Given the description of an element on the screen output the (x, y) to click on. 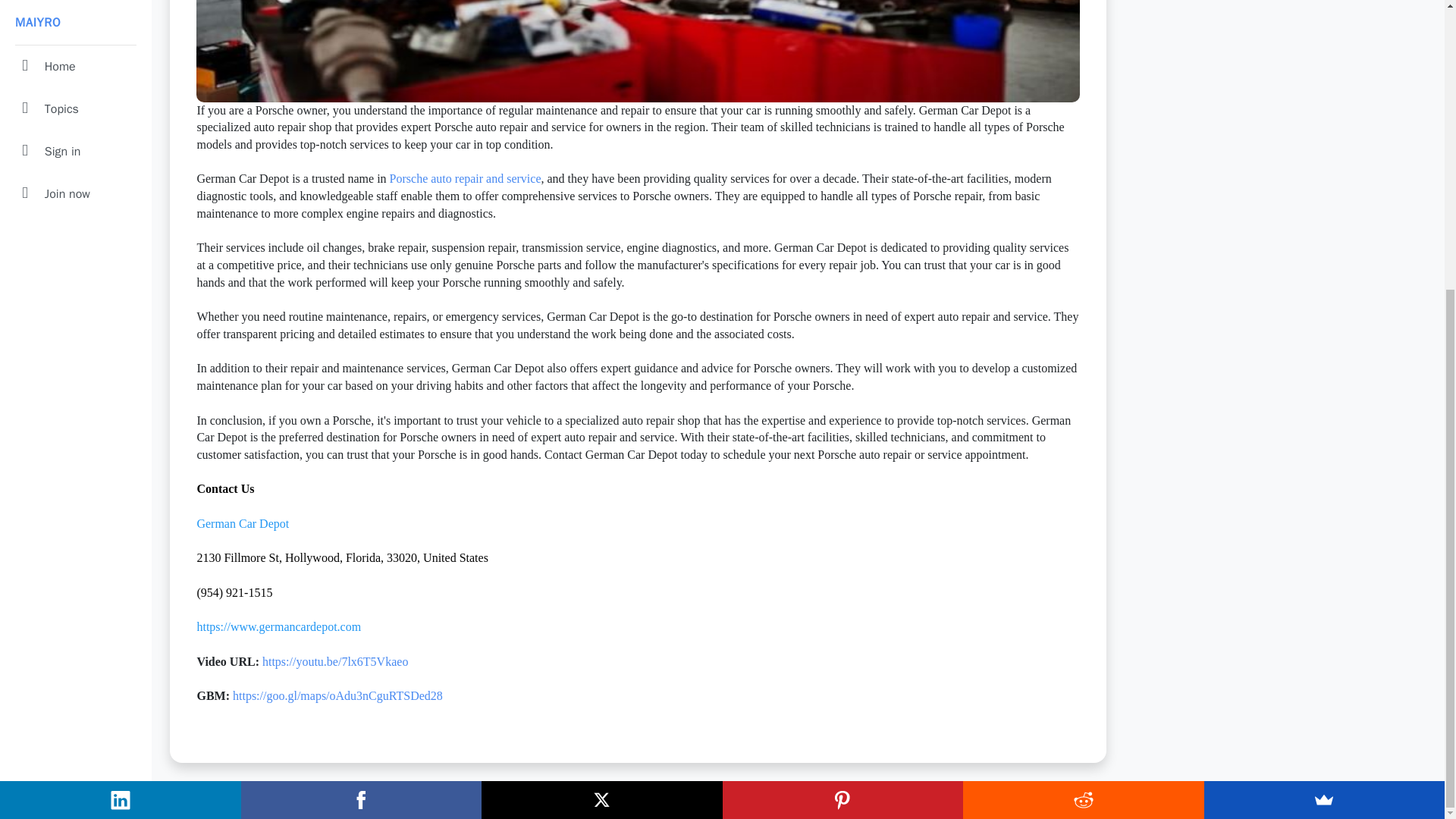
German Car Depot (242, 522)
Pinterest (842, 360)
Facebook (361, 360)
Reddit (1083, 360)
LinkedIn (120, 360)
X (601, 360)
Porsche auto repair and service (465, 178)
